Given the description of an element on the screen output the (x, y) to click on. 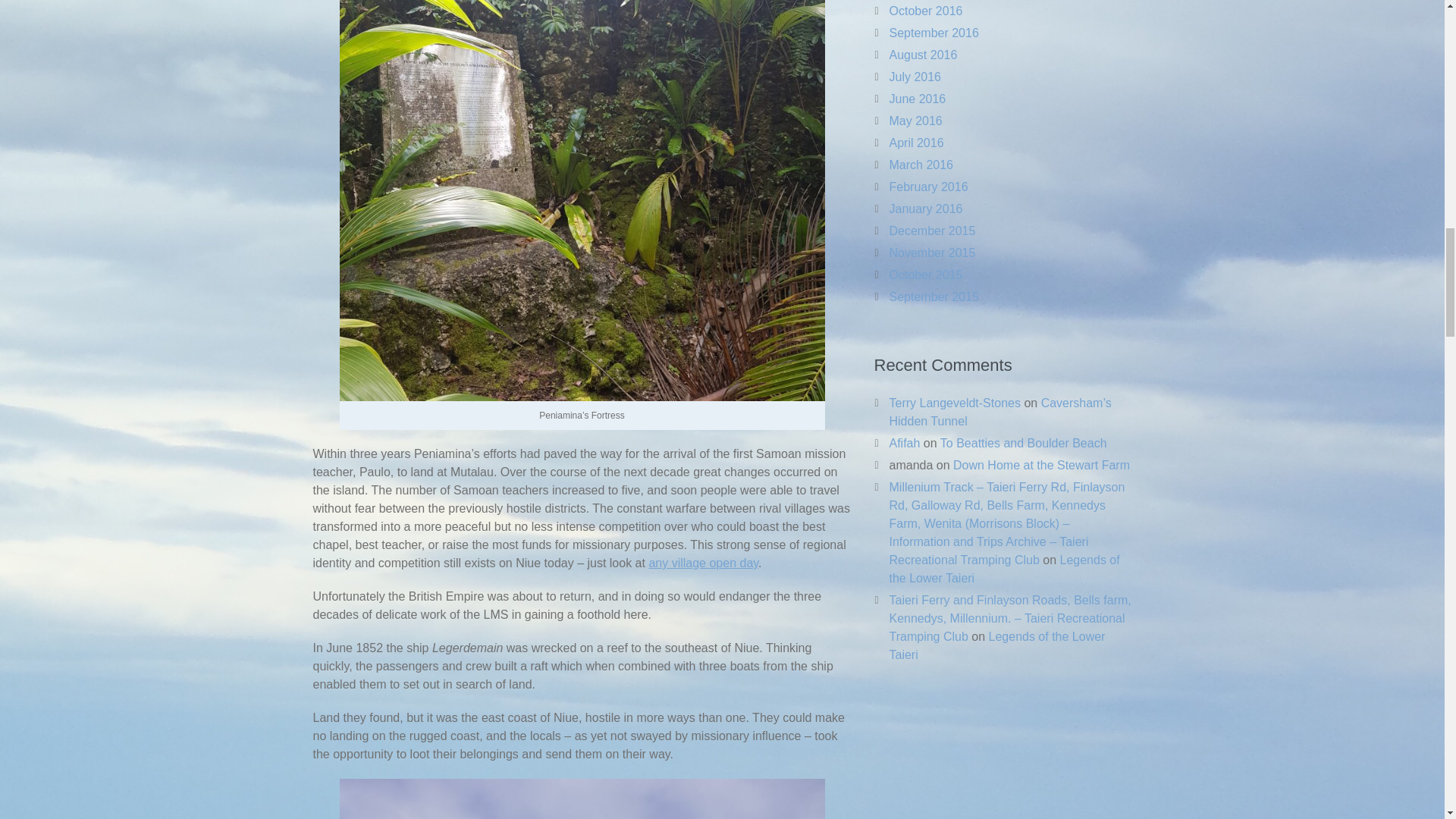
any village open day (702, 562)
